Given the description of an element on the screen output the (x, y) to click on. 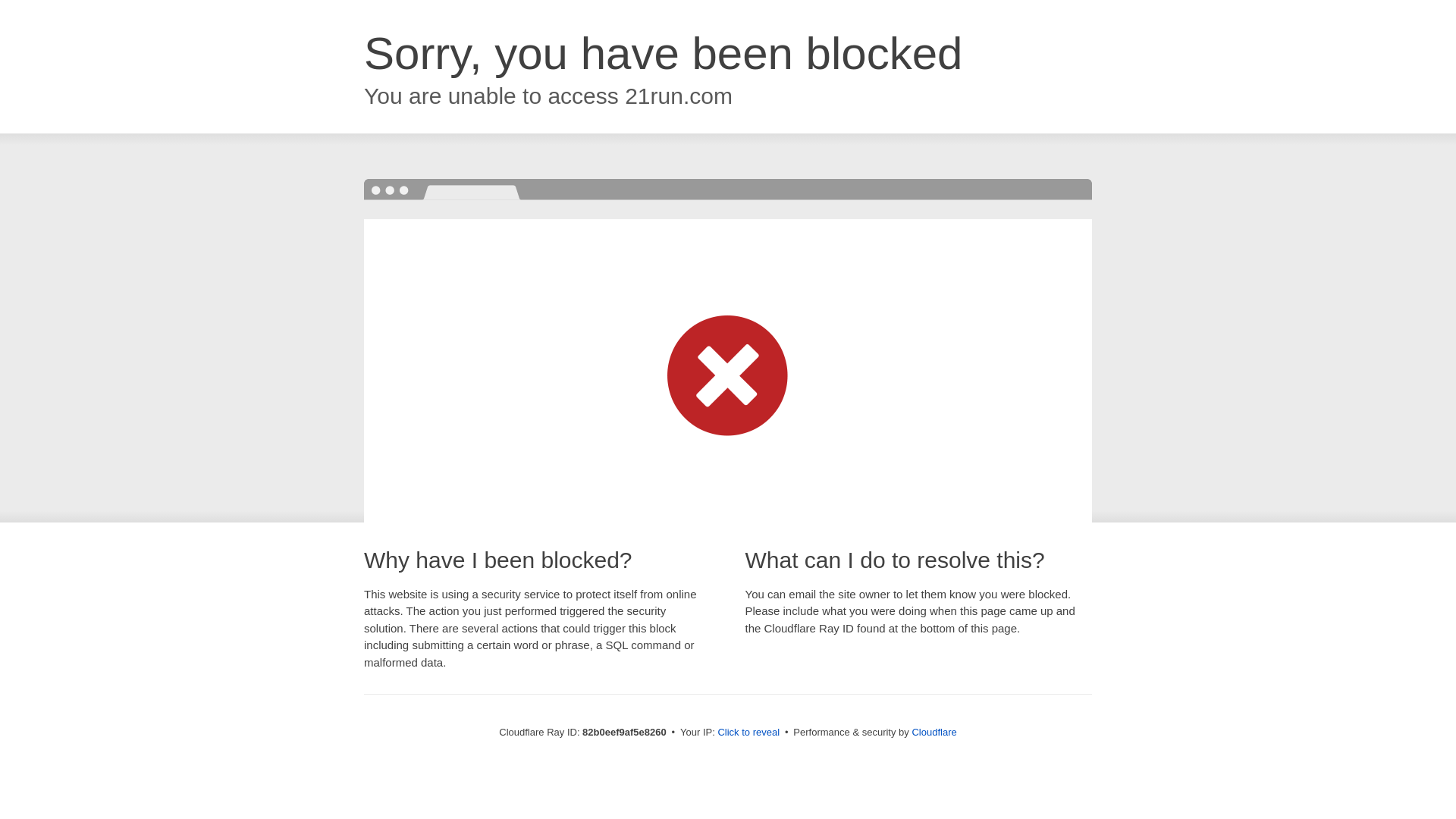
Cloudflare Element type: text (933, 731)
Click to reveal Element type: text (748, 732)
